Given the description of an element on the screen output the (x, y) to click on. 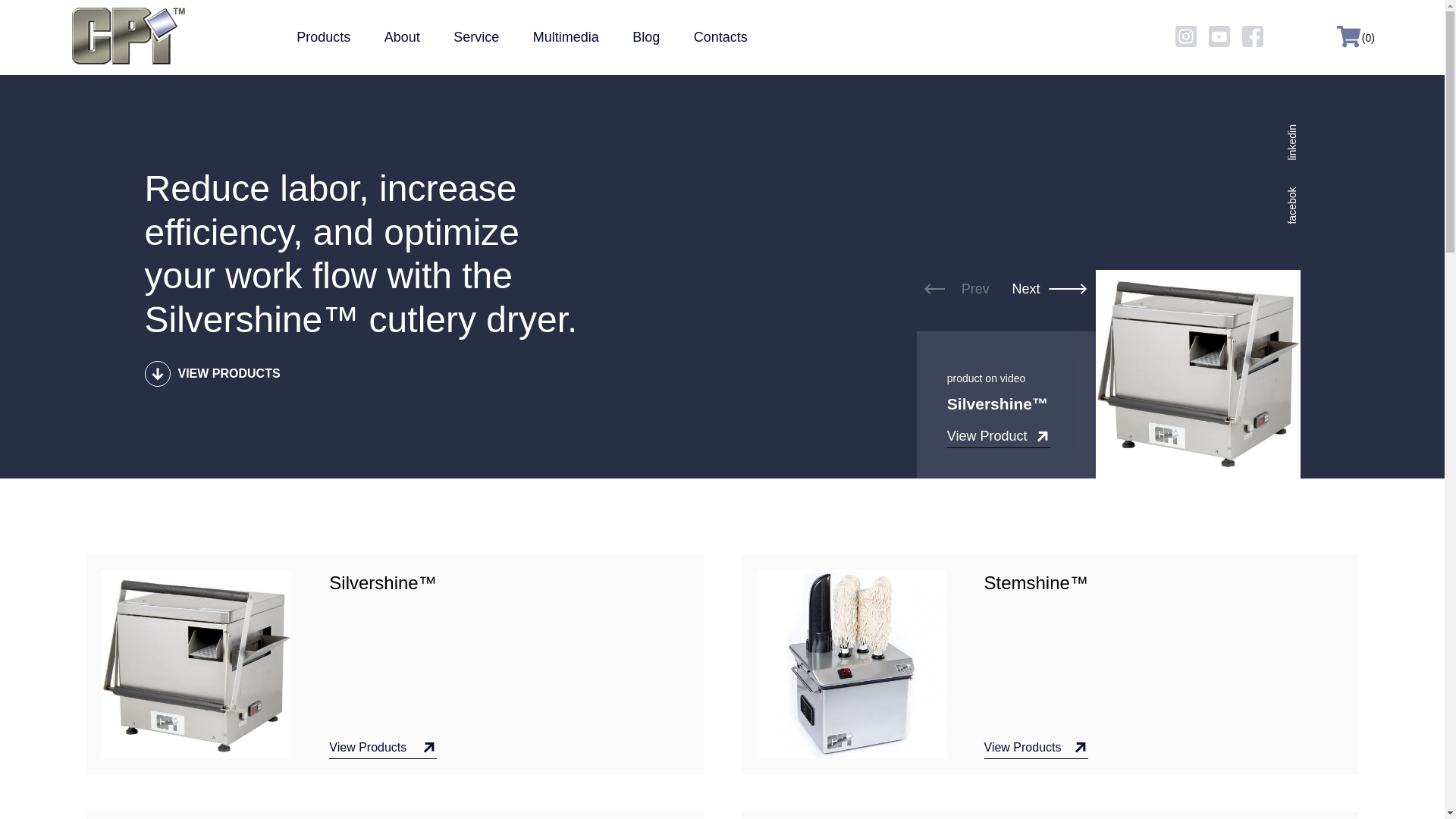
View Product (998, 437)
Products (323, 37)
About (402, 37)
Contacts (721, 37)
View Products (1035, 749)
Blog (645, 37)
Multimedia (565, 37)
Service (475, 37)
View Products (382, 749)
